Given the description of an element on the screen output the (x, y) to click on. 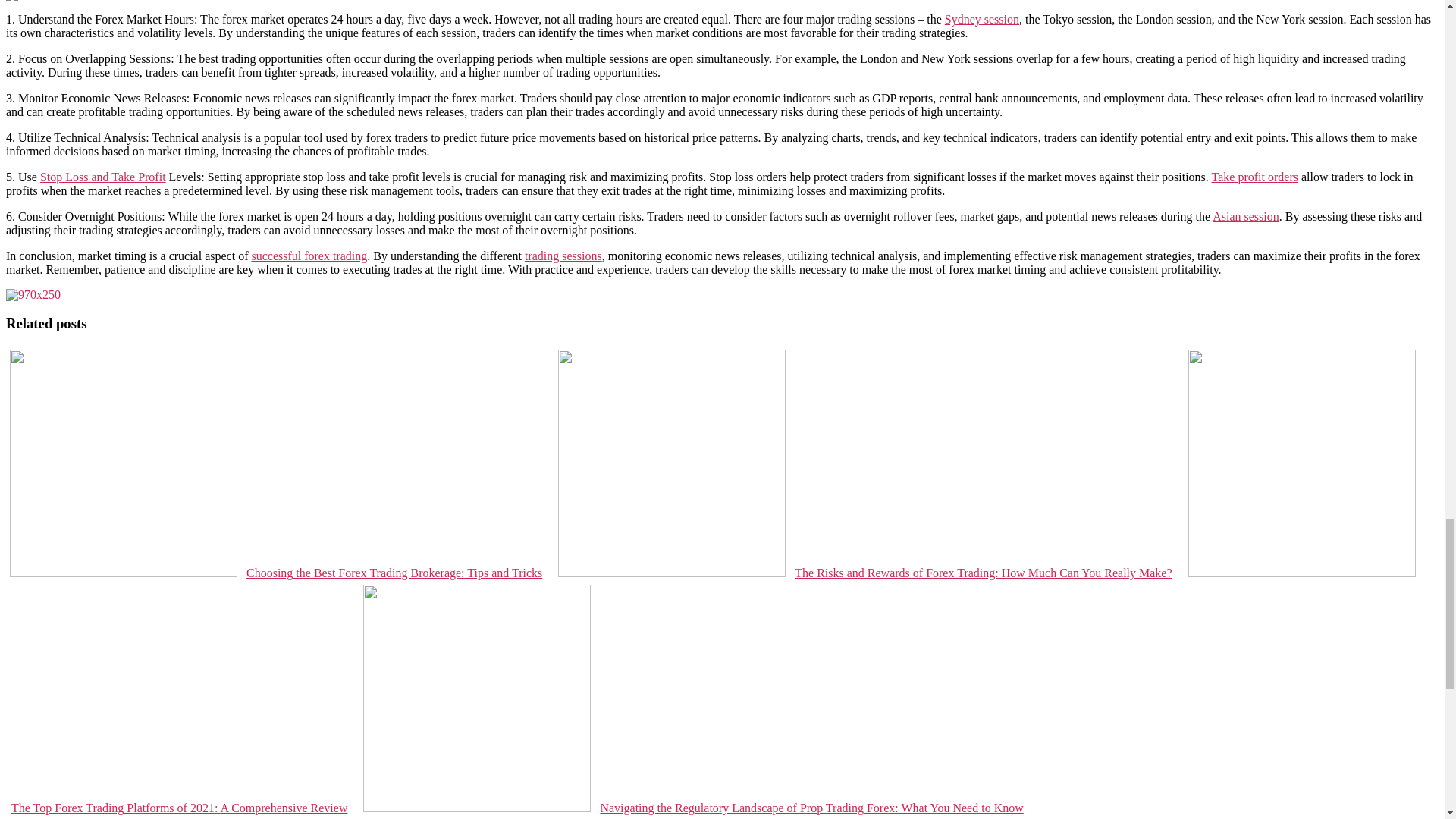
Stop Loss and Take Profit (102, 176)
Choosing the Best Forex Trading Brokerage: Tips and Tricks (276, 572)
trading sessions (563, 255)
Sydney session (981, 19)
Asian session (1245, 215)
Take profit orders (1254, 176)
successful forex trading (308, 255)
